Given the description of an element on the screen output the (x, y) to click on. 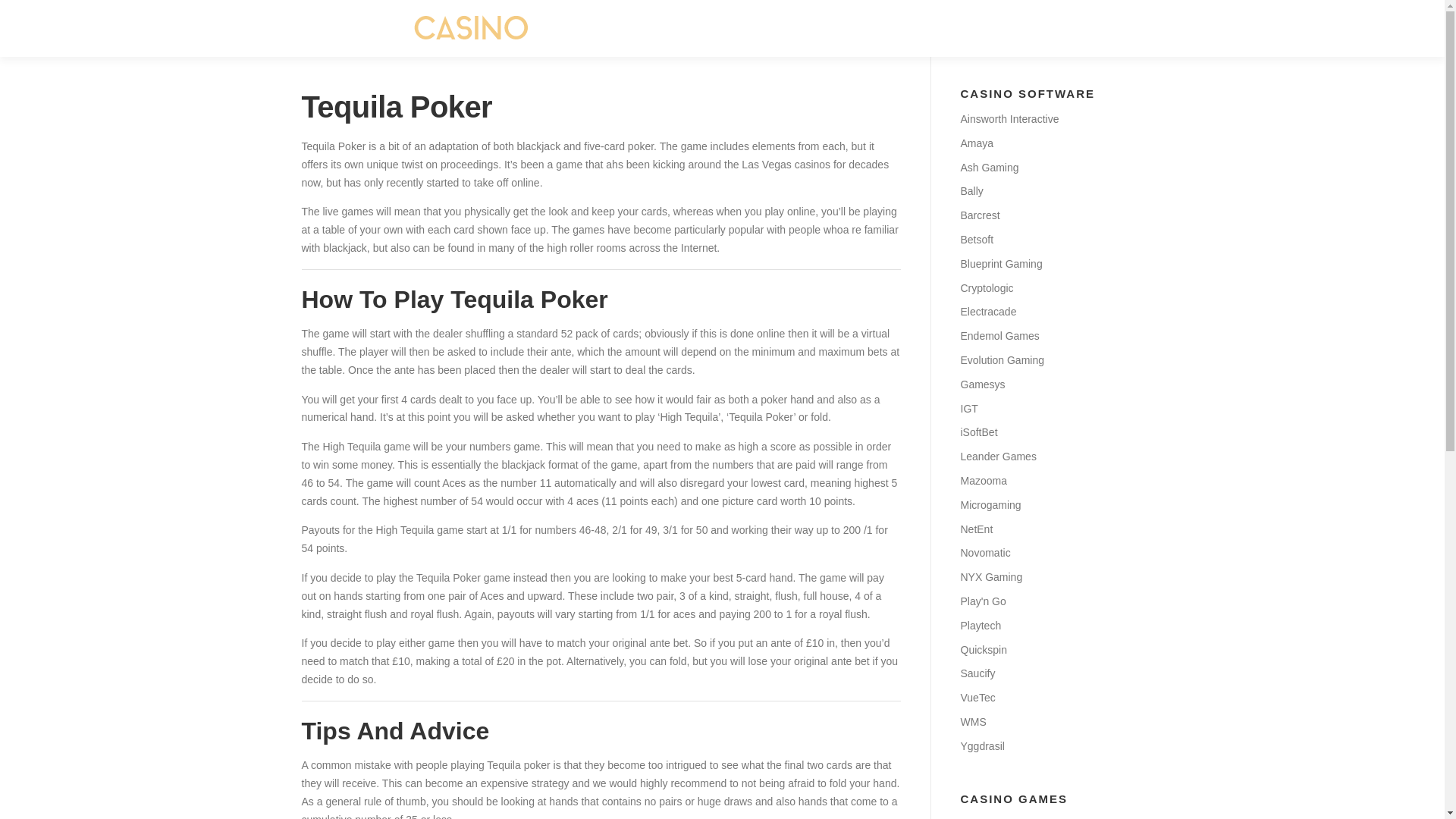
Yggdrasil (981, 746)
WMS (972, 721)
Ash Gaming (988, 167)
Bally (970, 191)
NYX Gaming (990, 576)
Electracade (987, 311)
Microgaming (989, 504)
HOME (663, 28)
Amaya (975, 143)
Evolution Gaming (1001, 359)
